Given the description of an element on the screen output the (x, y) to click on. 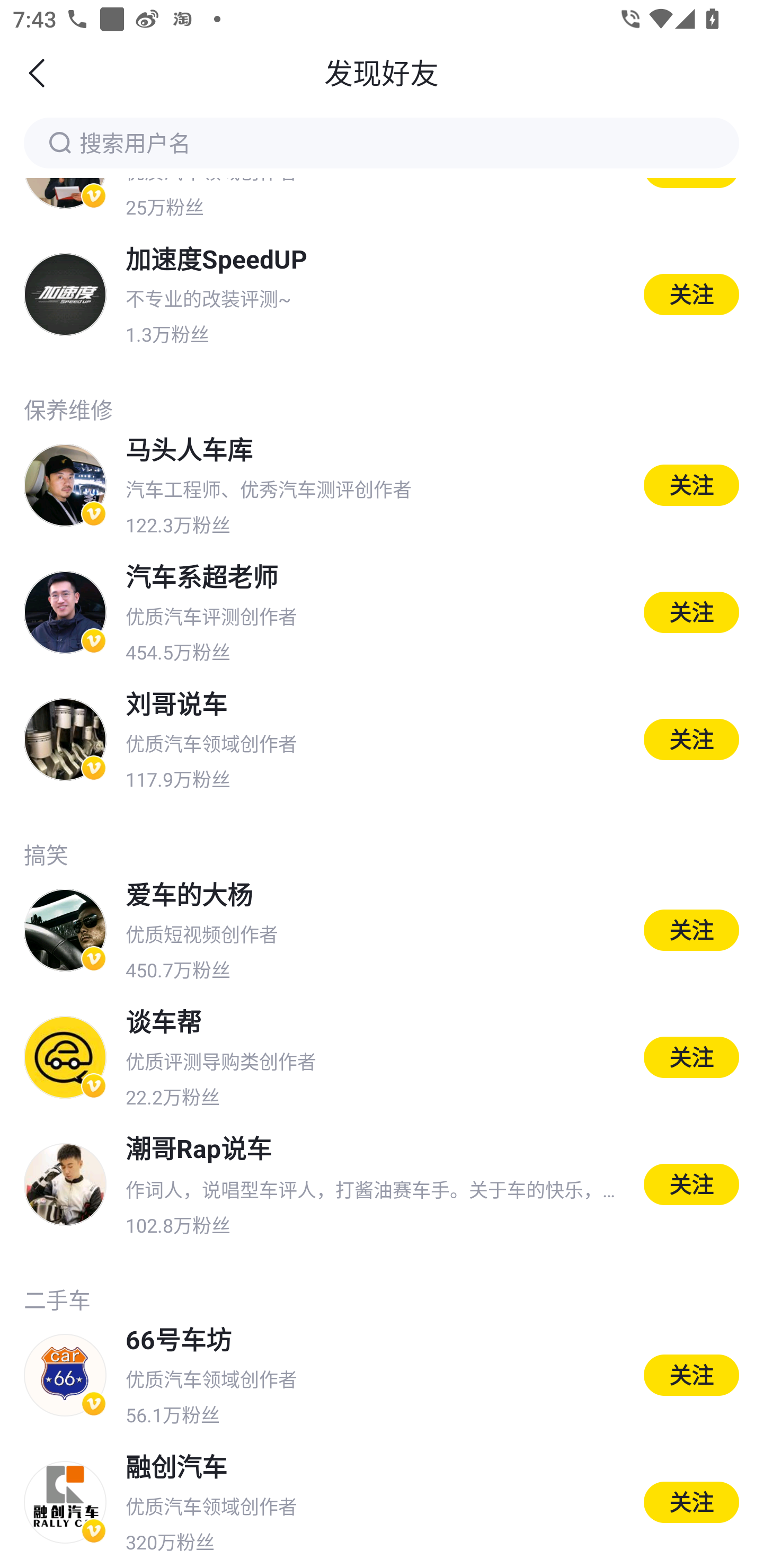
搜索用户名 (381, 142)
加速度SpeedUP 不专业的改装评测~ 1.3万粉丝 关注 (381, 293)
关注 (691, 294)
马头人车库 汽车工程师、优秀汽车测评创作者 122.3万粉丝 关注 (381, 484)
关注 (691, 485)
汽车系超老师 优质汽车评测创作者 454.5万粉丝 关注 (381, 611)
关注 (691, 612)
刘哥说车 优质汽车领域创作者 117.9万粉丝 关注 (381, 738)
关注 (691, 739)
爱车的大杨 优质短视频创作者 450.7万粉丝 关注 (381, 930)
关注 (691, 929)
谈车帮 优质评测导购类创作者 22.2万粉丝 关注 (381, 1057)
关注 (691, 1057)
潮哥Rap说车 作词人，说唱型车评人，打酱油赛车手。关于车的快乐，都在这儿！ 102.8万粉丝 关注 (381, 1184)
关注 (691, 1184)
66号车坊 优质汽车领域创作者 56.1万粉丝 关注 (381, 1375)
关注 (691, 1374)
融创汽车 优质汽车领域创作者 320万粉丝 关注 (381, 1502)
关注 (691, 1501)
